Given the description of an element on the screen output the (x, y) to click on. 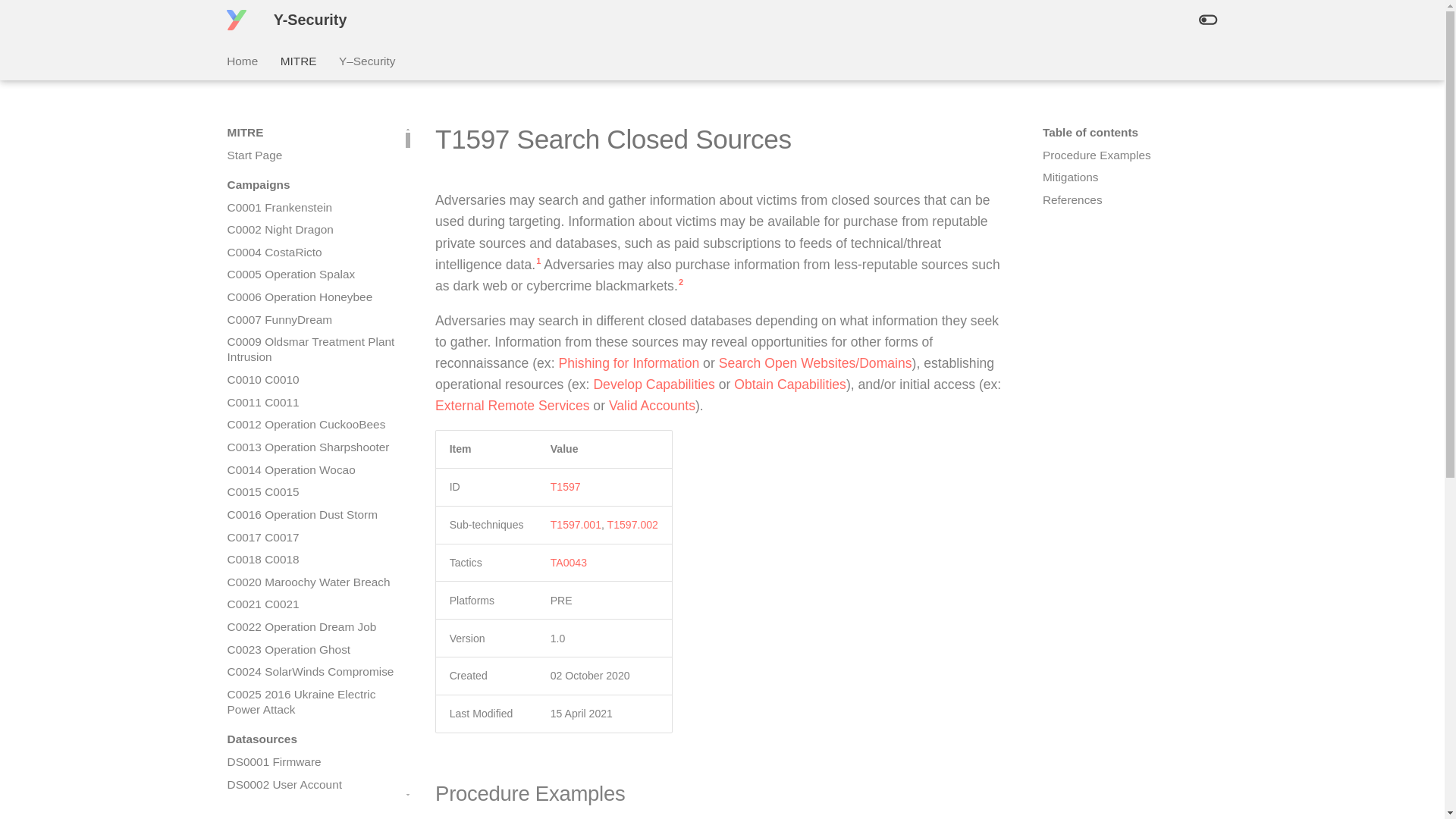
C0021 C0021 (310, 604)
DS0001 Firmware (310, 761)
C0009 Oldsmar Treatment Plant Intrusion (310, 349)
C0017 C0017 (310, 537)
C0002 Night Dragon (310, 229)
C0001 Frankenstein (310, 207)
C0007 FunnyDream (310, 319)
Switch to dark mode (1207, 19)
Start Page (310, 155)
Home (242, 60)
